Given the description of an element on the screen output the (x, y) to click on. 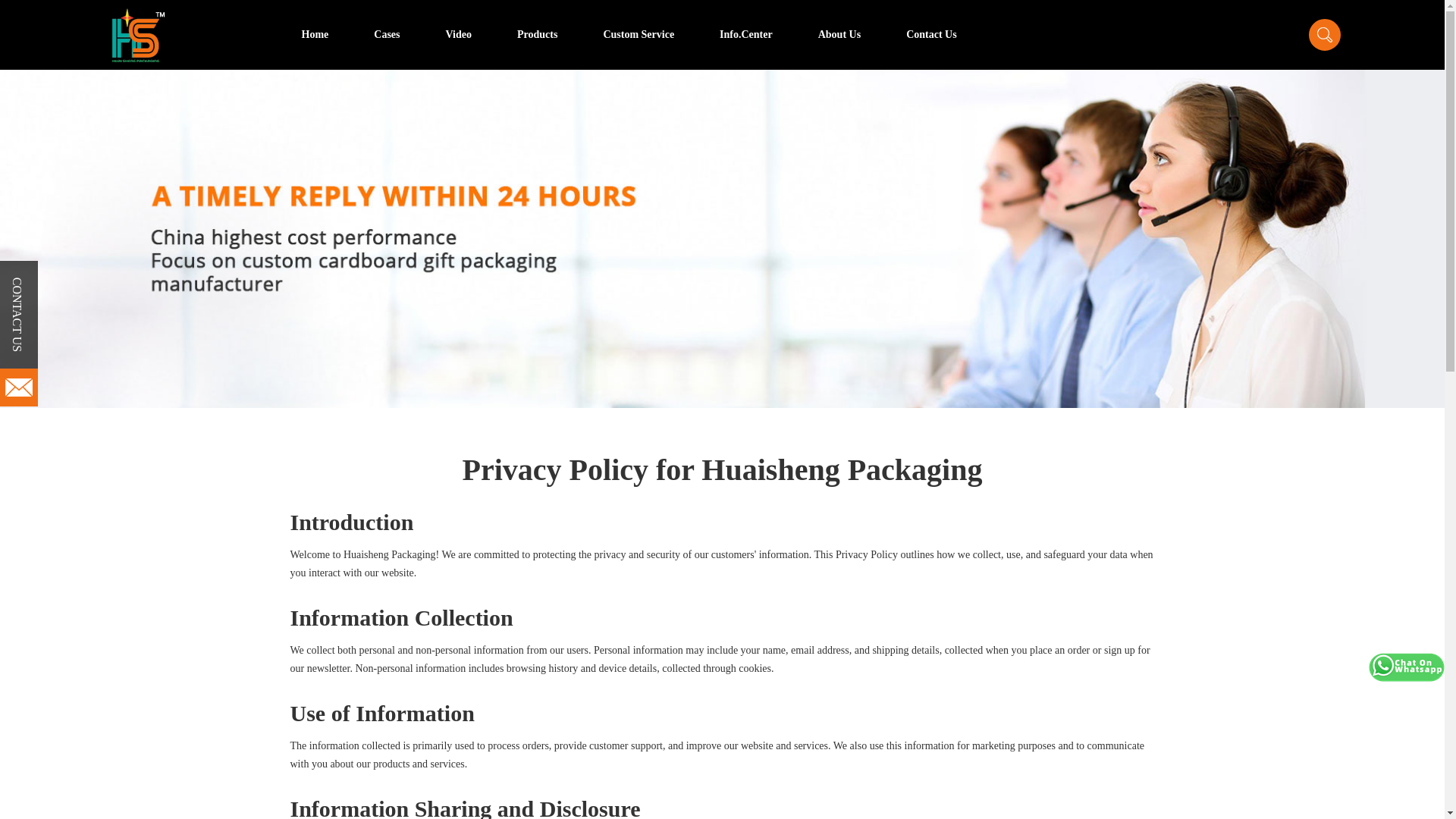
Info.Center (745, 34)
Video (458, 34)
Custom Service (638, 34)
Video (458, 34)
Products (537, 34)
Home (314, 34)
Custom Service (638, 34)
Guangzhou Huai Sheng Packaging Inc.,Ltd. (138, 34)
Contact Us (931, 34)
